Given the description of an element on the screen output the (x, y) to click on. 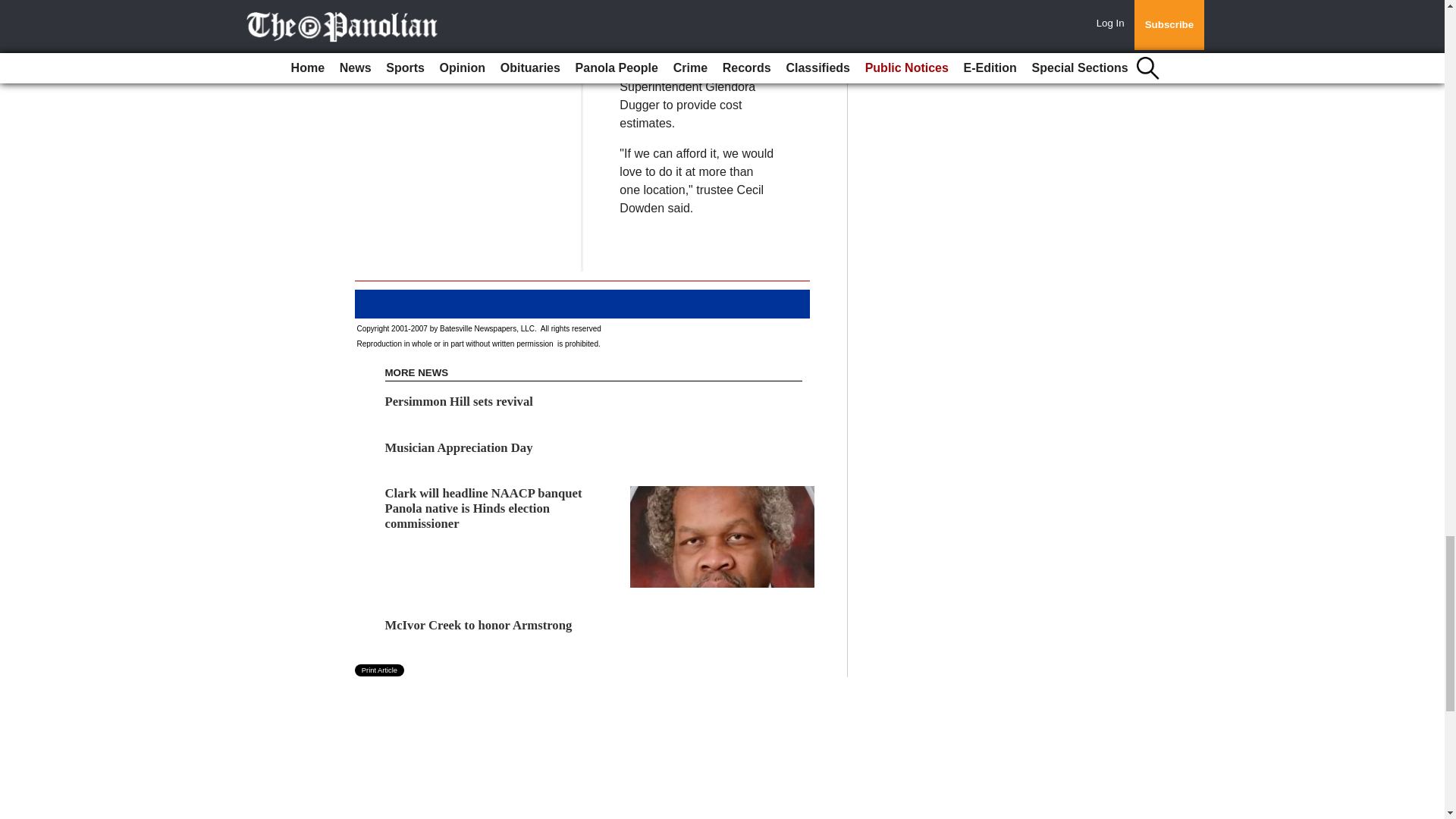
McIvor Creek to honor Armstrong (478, 625)
Musician Appreciation Day (458, 447)
Persimmon Hill sets revival (458, 400)
Musician Appreciation Day (458, 447)
Persimmon Hill sets revival (458, 400)
Print Article (379, 670)
McIvor Creek to honor Armstrong (478, 625)
